Given the description of an element on the screen output the (x, y) to click on. 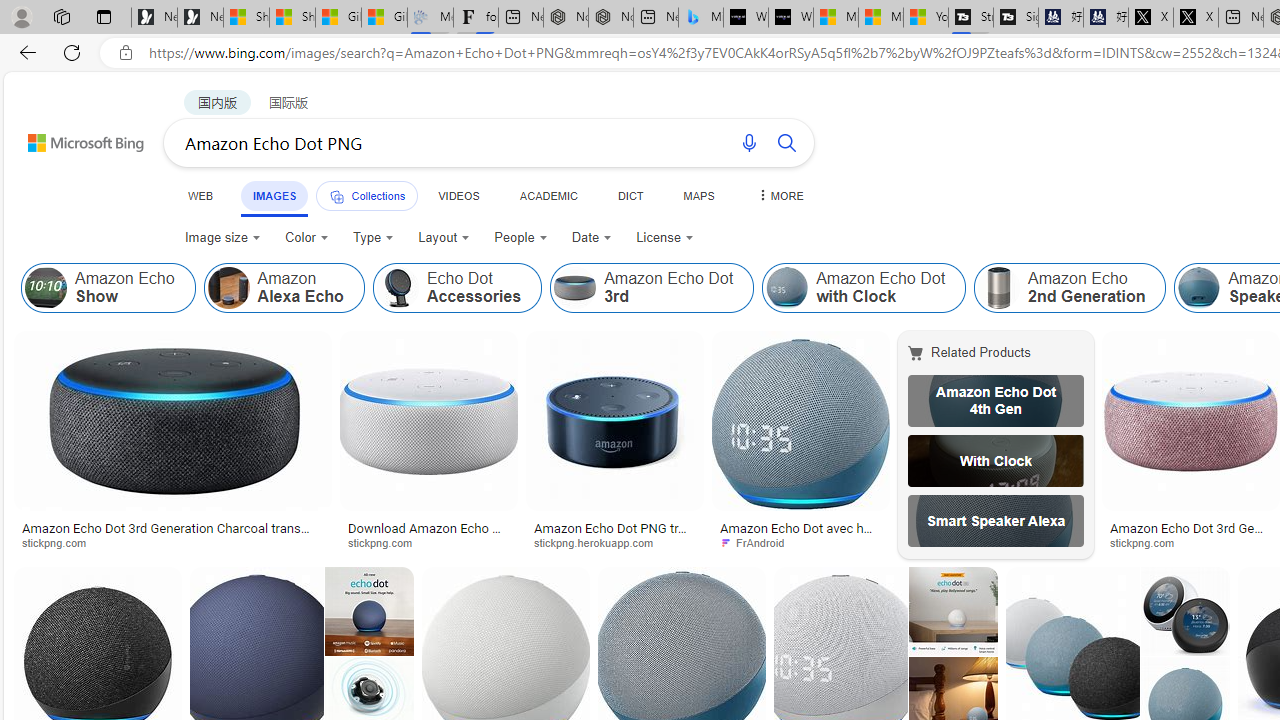
DICT (630, 195)
IMAGES (274, 196)
Color (305, 237)
Image result for Amazon Echo Dot PNG (1185, 611)
Amazon Echo Dot 3rd (575, 287)
Layout (443, 237)
Amazon Echo 2nd Generation (1070, 287)
Layout (443, 237)
Smart Speaker Alexa (995, 521)
